Given the description of an element on the screen output the (x, y) to click on. 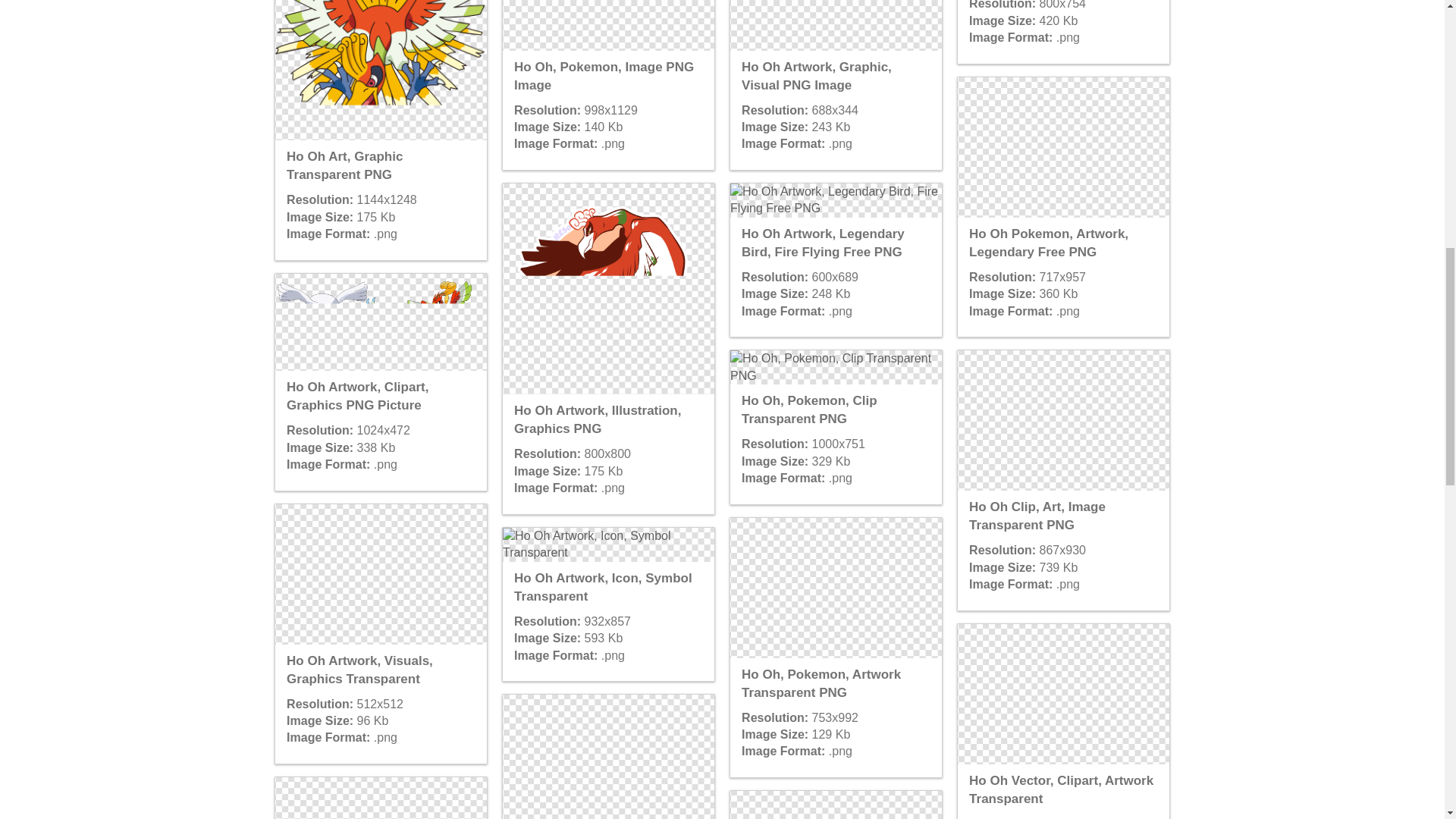
Ho Oh Artwork, Legendary Bird, Fire Flying Free PNG (835, 200)
Ho Oh Artwork, Clipart, Graphics PNG Picture (380, 322)
Ho Oh, Pokemon, Image PNG Image (607, 25)
Ho Oh Artwork, Visuals, Graphics Transparent (380, 574)
Ho Oh Artwork, Icon, Symbol PNG (607, 756)
Ho Oh Artwork, Icon, Symbol Transparent (607, 544)
Ho Oh Artwork, Illustration, Image Free PNG (380, 798)
Ho Oh Artwork, Illustration, Graphics PNG (607, 288)
Ho Oh Art, Graphic Transparent PNG (380, 70)
Ho Oh Artwork, Graphic, Visual PNG Image (835, 25)
